Given the description of an element on the screen output the (x, y) to click on. 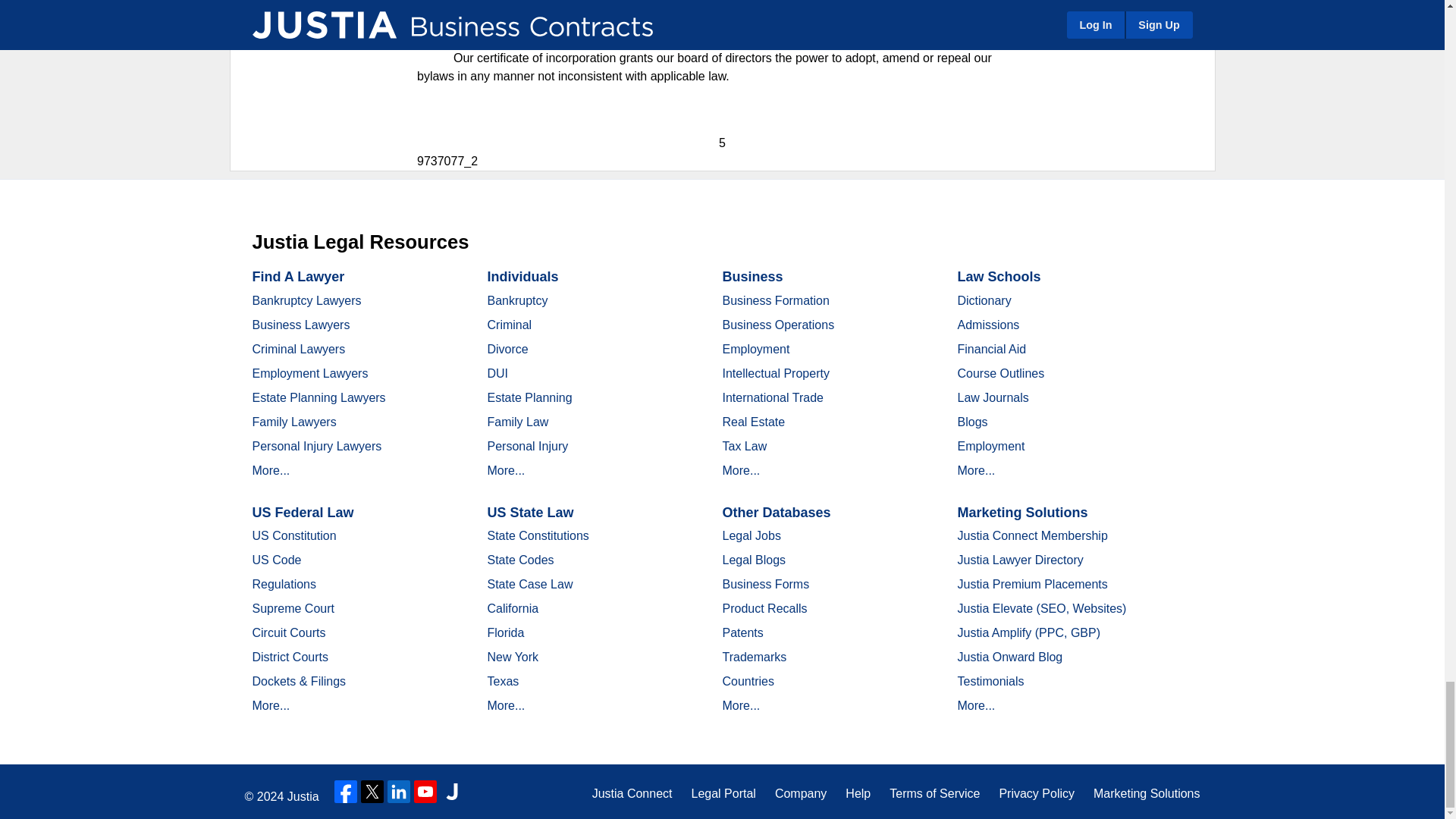
Bankruptcy Lawyers (306, 300)
Find A Lawyer (297, 276)
Personal Injury Lawyers (316, 445)
LinkedIn (398, 791)
Business Lawyers (300, 324)
YouTube (424, 791)
Justia Lawyer Directory (452, 791)
Facebook (345, 791)
Individuals (521, 276)
Bankruptcy (516, 300)
Twitter (372, 791)
Family Lawyers (293, 421)
Employment Lawyers (309, 373)
Estate Planning Lawyers (318, 397)
More... (270, 470)
